Given the description of an element on the screen output the (x, y) to click on. 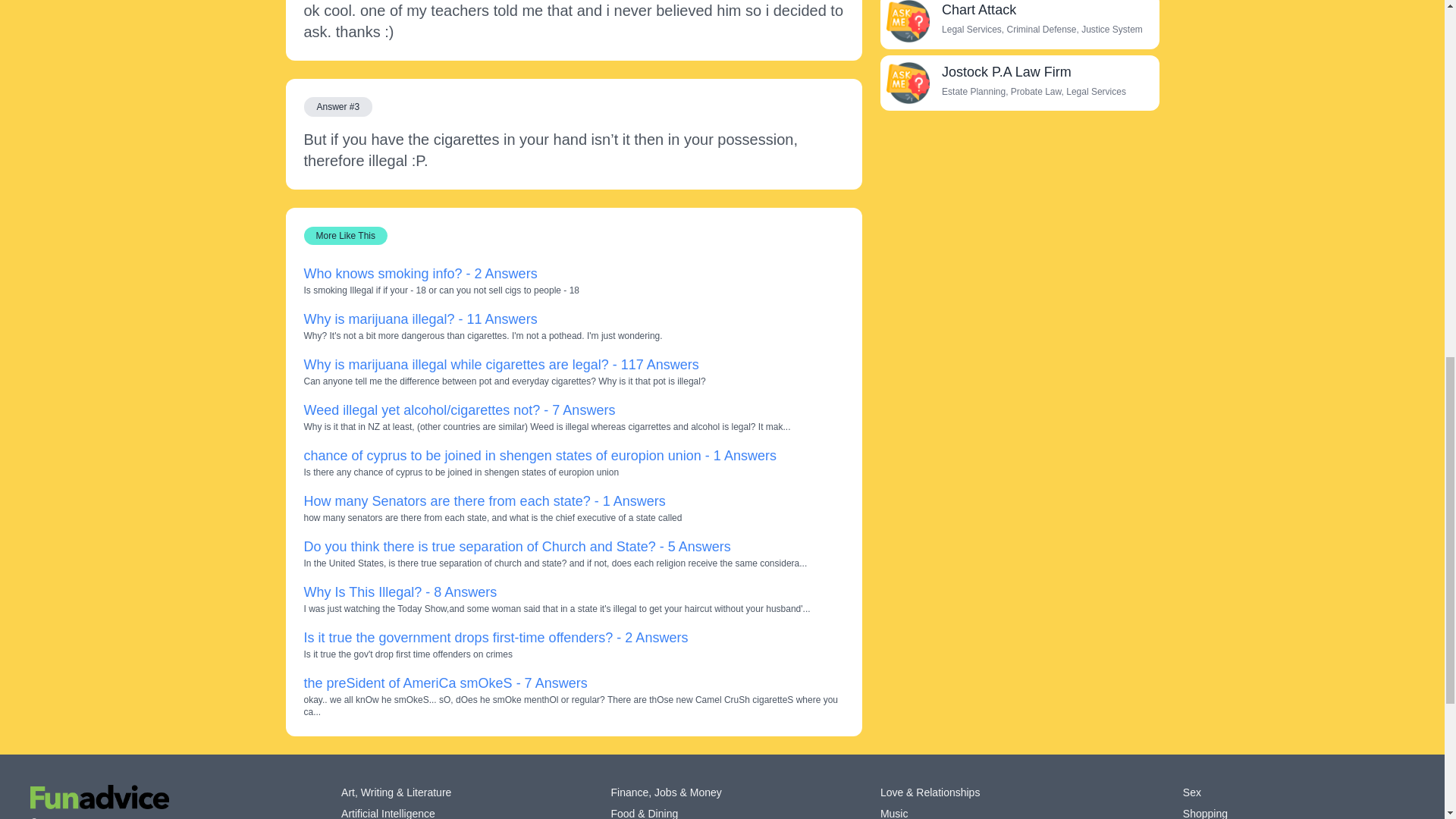
Who knows smoking info? - 2 Answers (419, 273)
Jostock P.A Law Firm (1006, 71)
the preSident of AmeriCa smOkeS - 7 Answers (444, 683)
Why Is This Illegal? - 8 Answers (399, 591)
Why is marijuana illegal? - 11 Answers (419, 319)
How many Senators are there from each state? - 1 Answers (483, 500)
Chart Attack (979, 9)
Chart Attack (907, 21)
Jostock P.A Law Firm (907, 83)
Artificial Intelligence (387, 812)
